Given the description of an element on the screen output the (x, y) to click on. 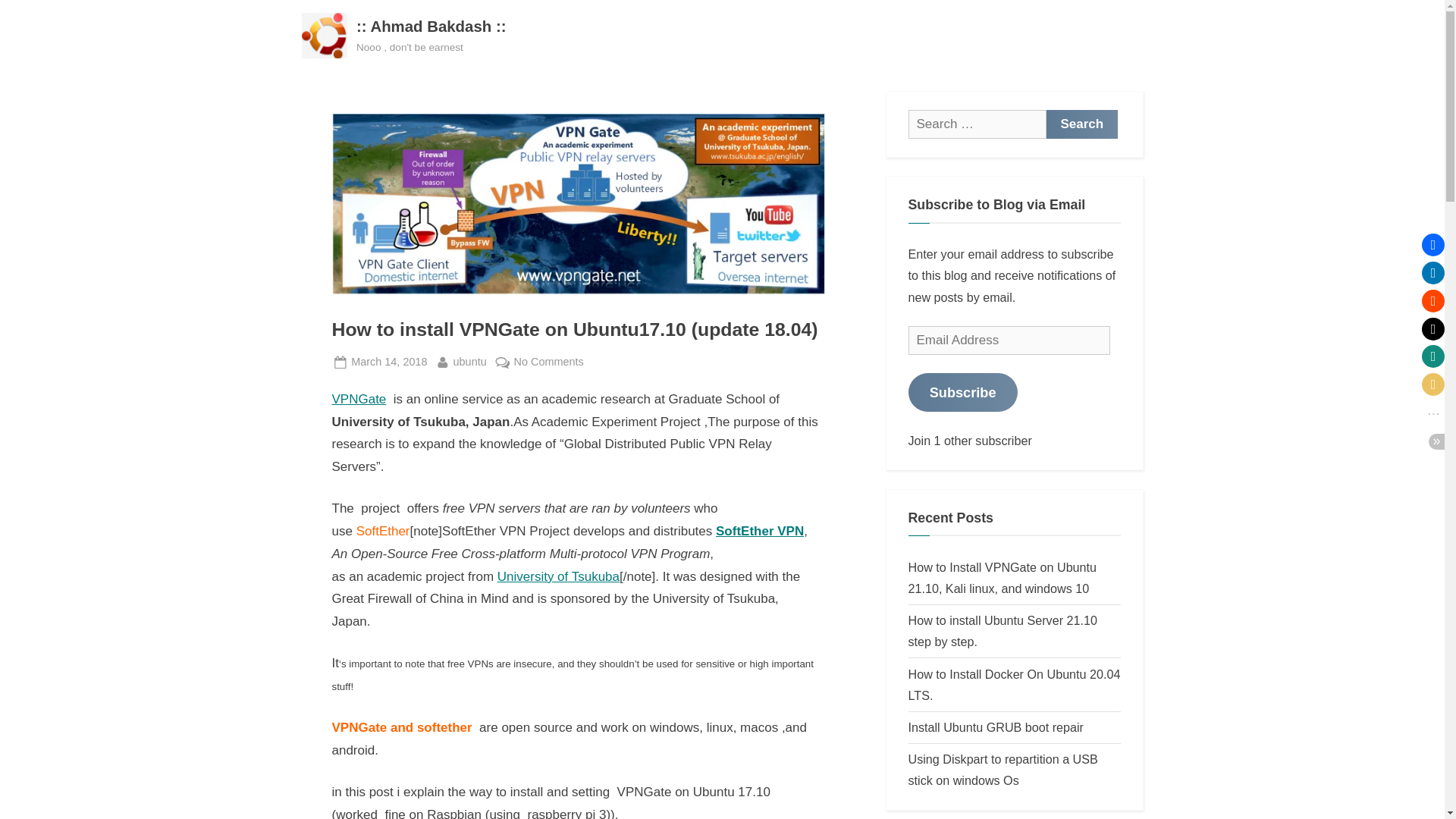
:: Ahmad Bakdash :: (431, 26)
Subscribe (962, 392)
Install Ubuntu GRUB boot repair (995, 726)
University of Tsukuba (558, 576)
VPNGate (359, 399)
How to Install Docker On Ubuntu 20.04 LTS. (1014, 684)
Search (1082, 123)
Search (1082, 123)
Search (388, 361)
Why SoftEther VPN? (1082, 123)
How to install Ubuntu Server 21.10 step by step. (759, 531)
Using Diskpart to repartition a USB stick on windows Os (1002, 630)
